Given the description of an element on the screen output the (x, y) to click on. 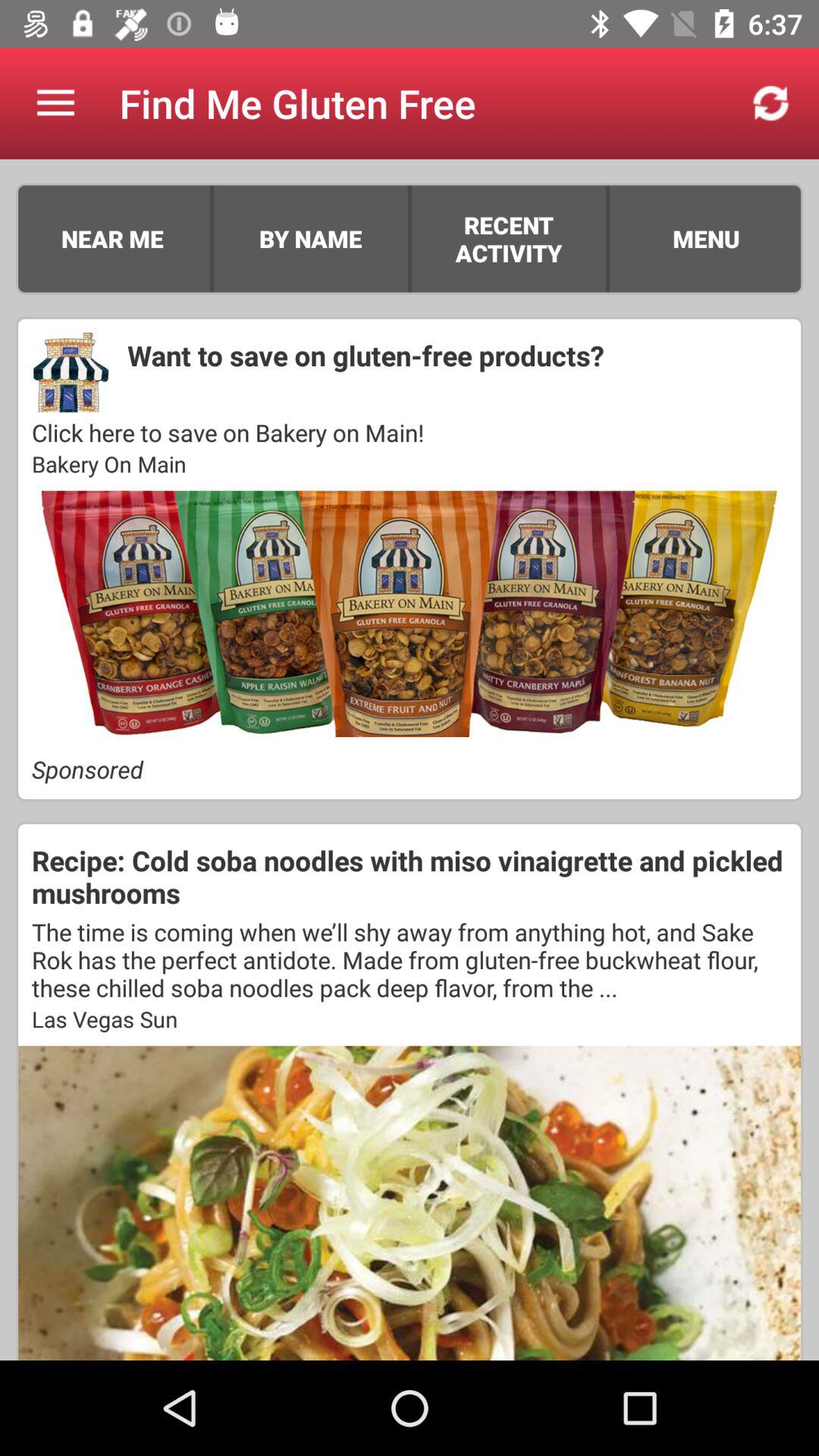
select the icon above the want to save (508, 238)
